Given the description of an element on the screen output the (x, y) to click on. 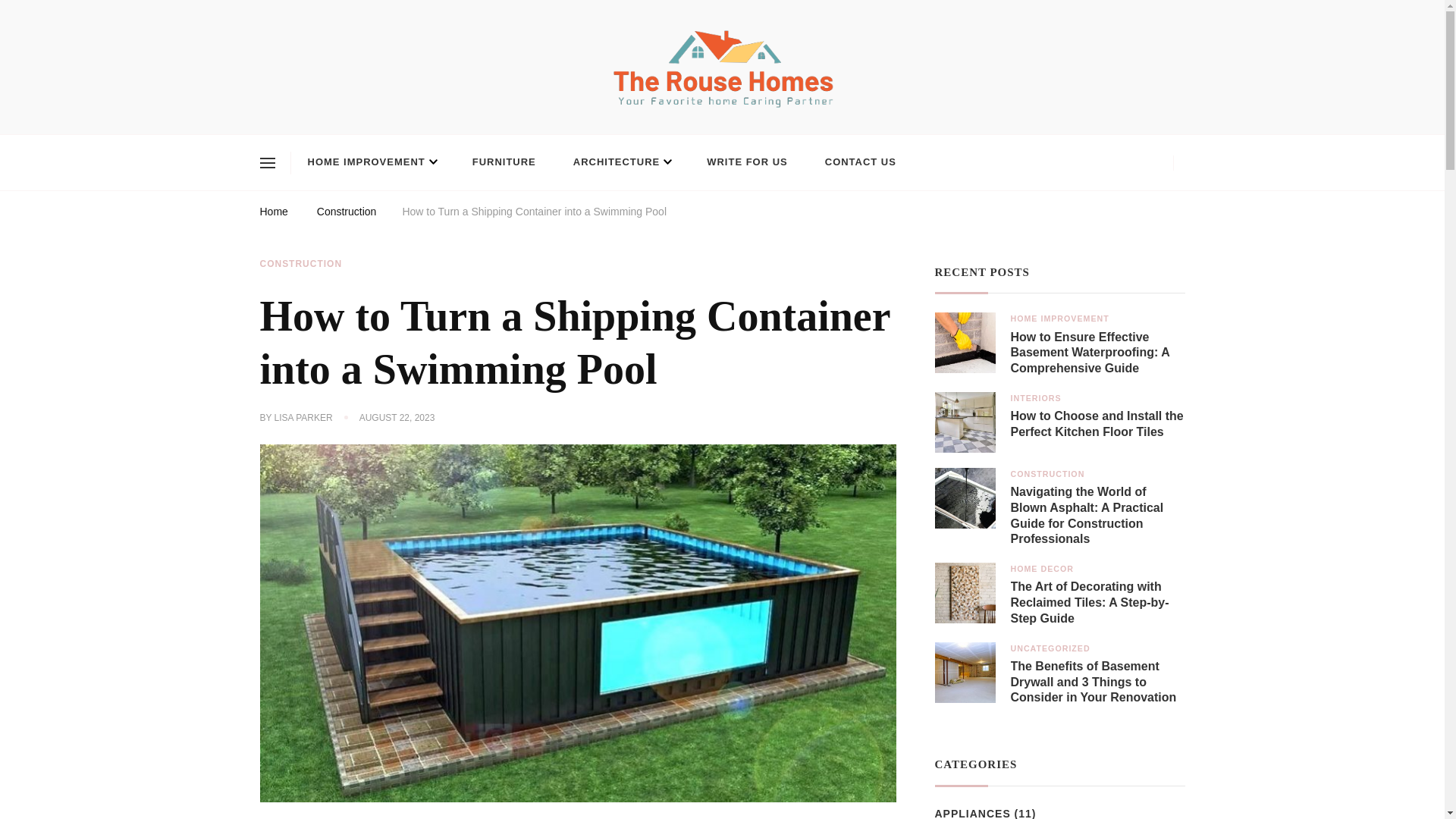
FURNITURE (504, 162)
WRITE FOR US (747, 162)
How to Turn a Shipping Container into a Swimming Pool (533, 213)
Home (272, 213)
TheRouseHomes (341, 125)
CONTACT US (860, 162)
Construction (347, 213)
LISA PARKER (304, 418)
HOME IMPROVEMENT (371, 162)
AUGUST 22, 2023 (397, 418)
